Given the description of an element on the screen output the (x, y) to click on. 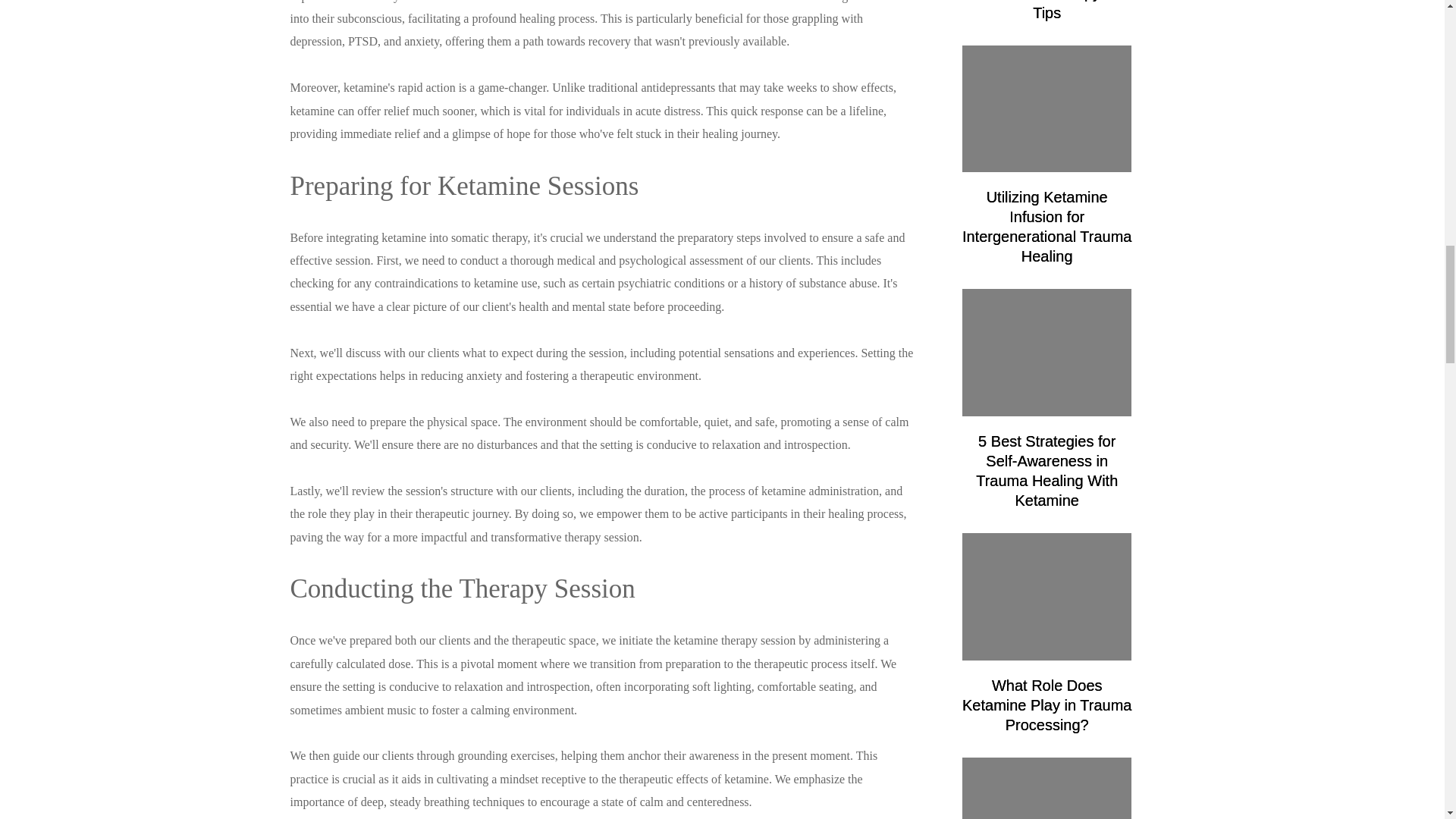
Integrating Ketamine for Somatic Therapy: A How-To Guide 3 (1047, 352)
Integrating Ketamine for Somatic Therapy: A How-To Guide 3 (1047, 596)
Integrating Ketamine for Somatic Therapy: A How-To Guide 3 (1047, 788)
Integrating Ketamine for Somatic Therapy: A How-To Guide 3 (1047, 108)
